Given the description of an element on the screen output the (x, y) to click on. 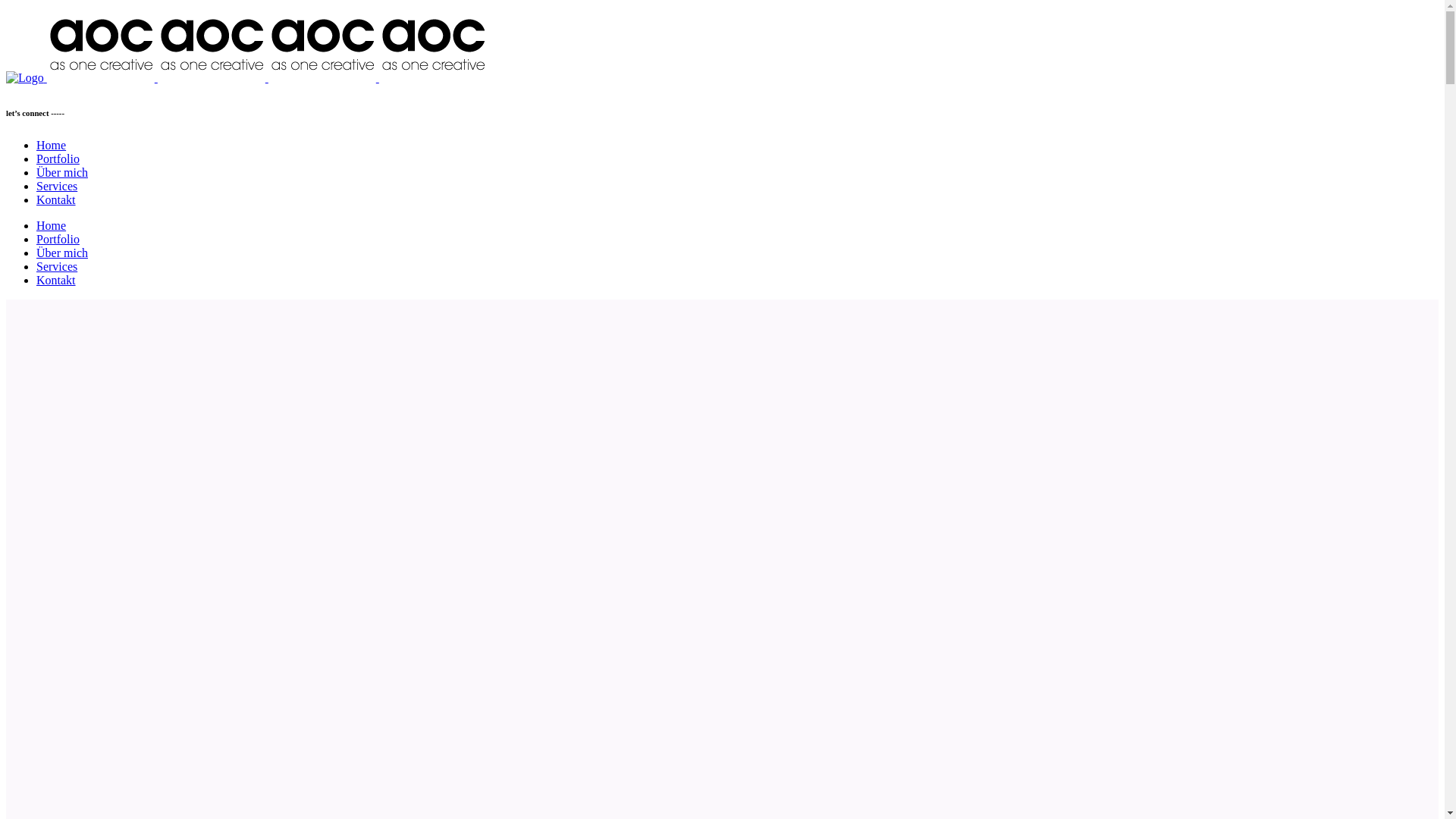
Portfolio Element type: text (57, 238)
Services Element type: text (56, 185)
Kontakt Element type: text (55, 279)
Home Element type: text (50, 144)
Kontakt Element type: text (55, 199)
Services Element type: text (56, 266)
Portfolio Element type: text (57, 158)
Home Element type: text (50, 225)
